Given the description of an element on the screen output the (x, y) to click on. 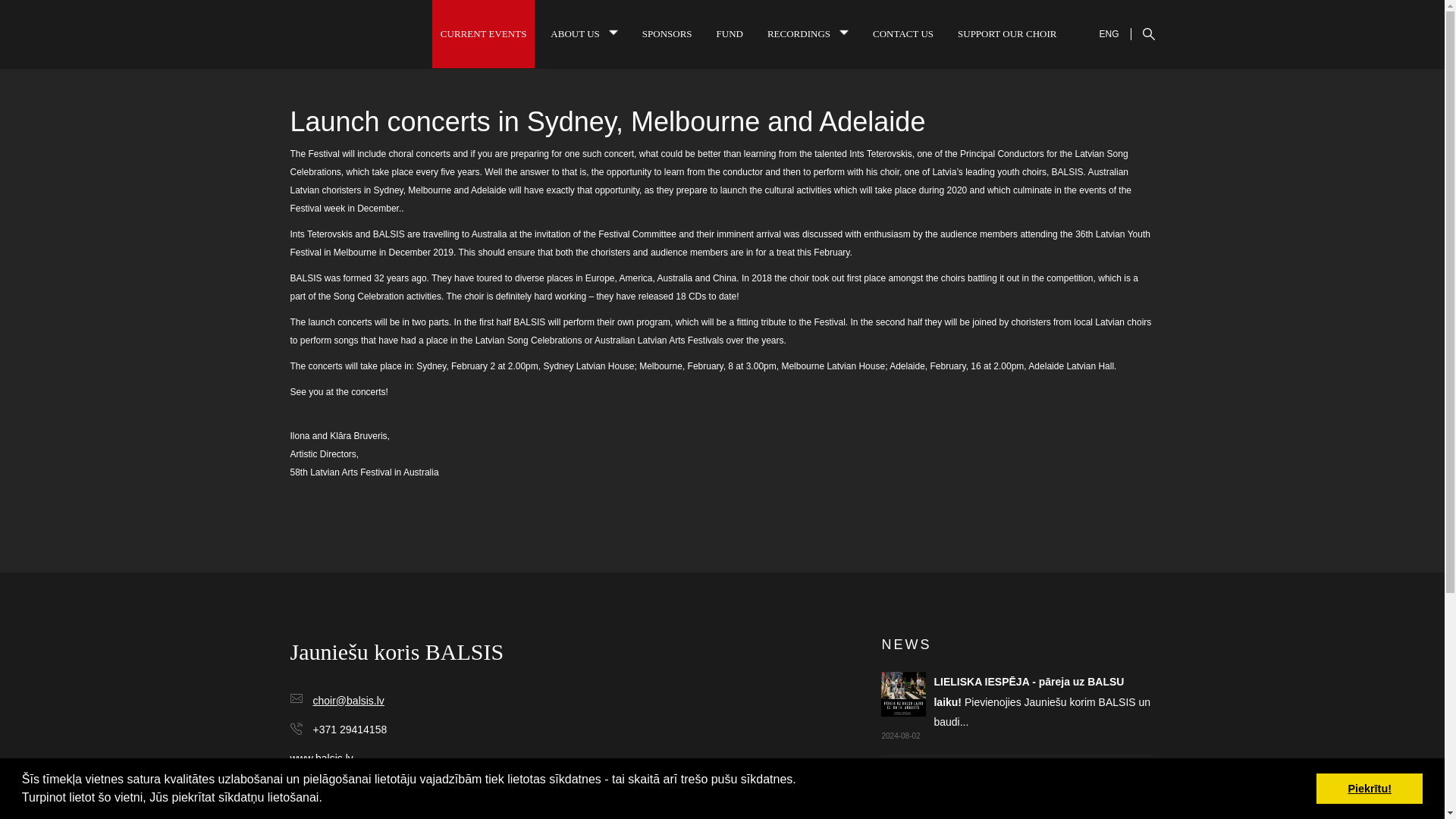
CONTACT US (903, 33)
ABOUT US (583, 33)
ENG (1108, 33)
CURRENT EVENTS (483, 33)
RECORDINGS (807, 33)
SUPPORT OUR CHOIR (1006, 33)
SPONSORS (666, 33)
ENG (1108, 28)
www.balsis.lv (320, 758)
